Given the description of an element on the screen output the (x, y) to click on. 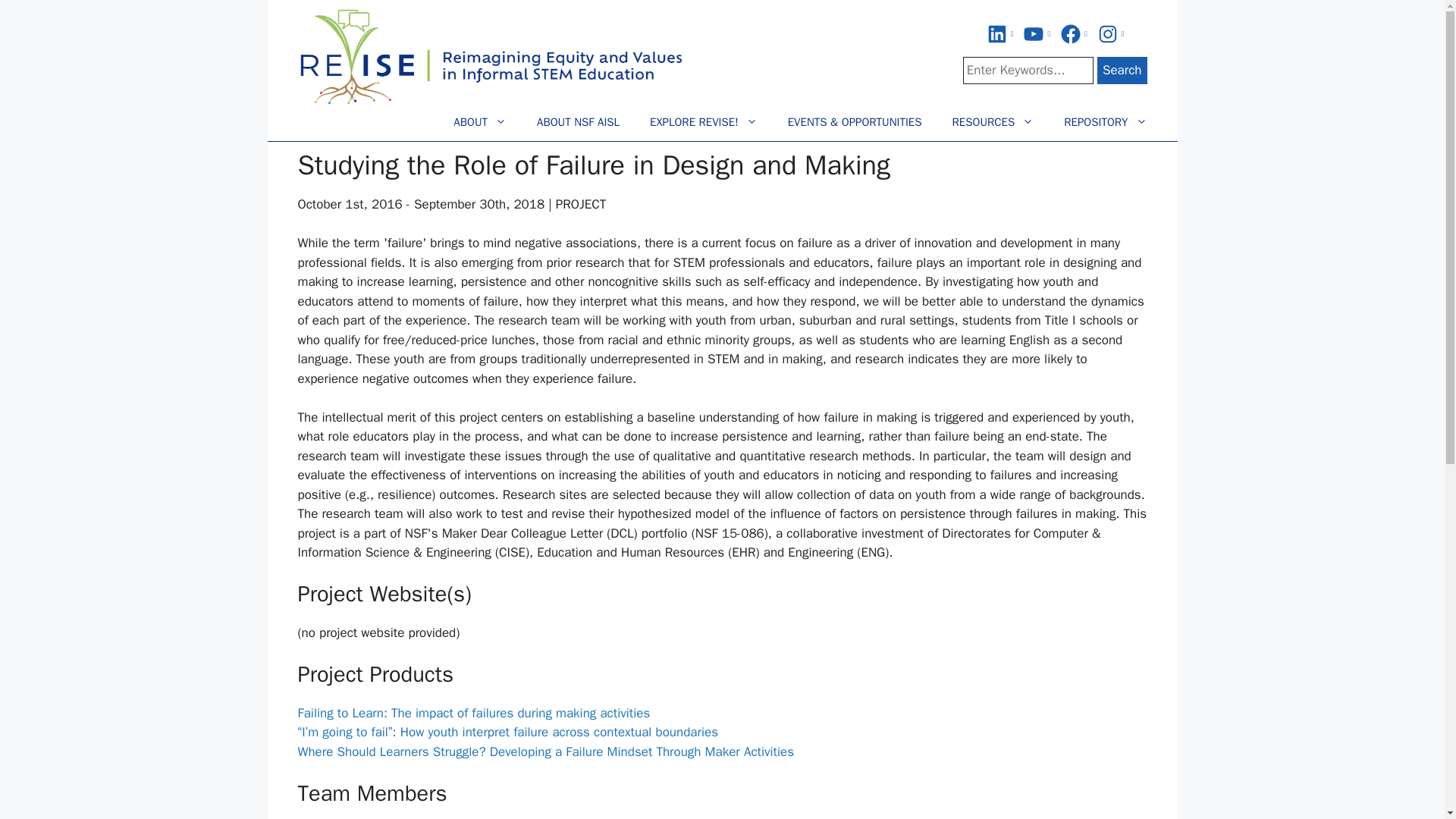
Facebook for REVISE (1073, 33)
Instagram channel for REVISE (1110, 33)
Linkedin for Revise (999, 33)
RESOURCES (993, 118)
youtube channel for REVISE (1035, 33)
Search (1122, 70)
Type keywords and hit Return to search (1027, 70)
EXPLORE REVISE! (703, 118)
ABOUT NSF AISL (577, 118)
ABOUT (479, 118)
REPOSITORY (1104, 118)
Search (1122, 70)
